Given the description of an element on the screen output the (x, y) to click on. 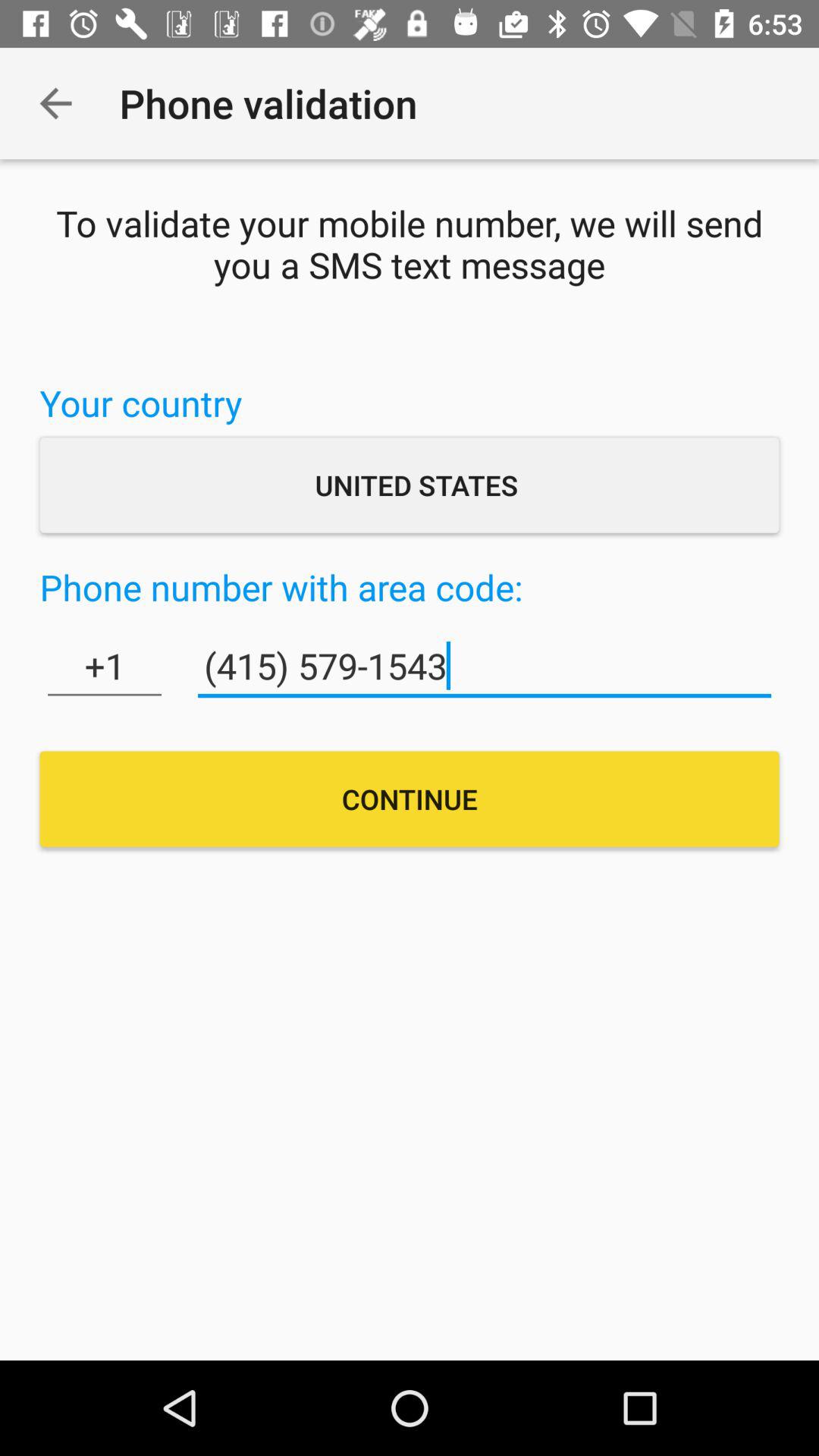
tap the item next to +1 icon (484, 666)
